Given the description of an element on the screen output the (x, y) to click on. 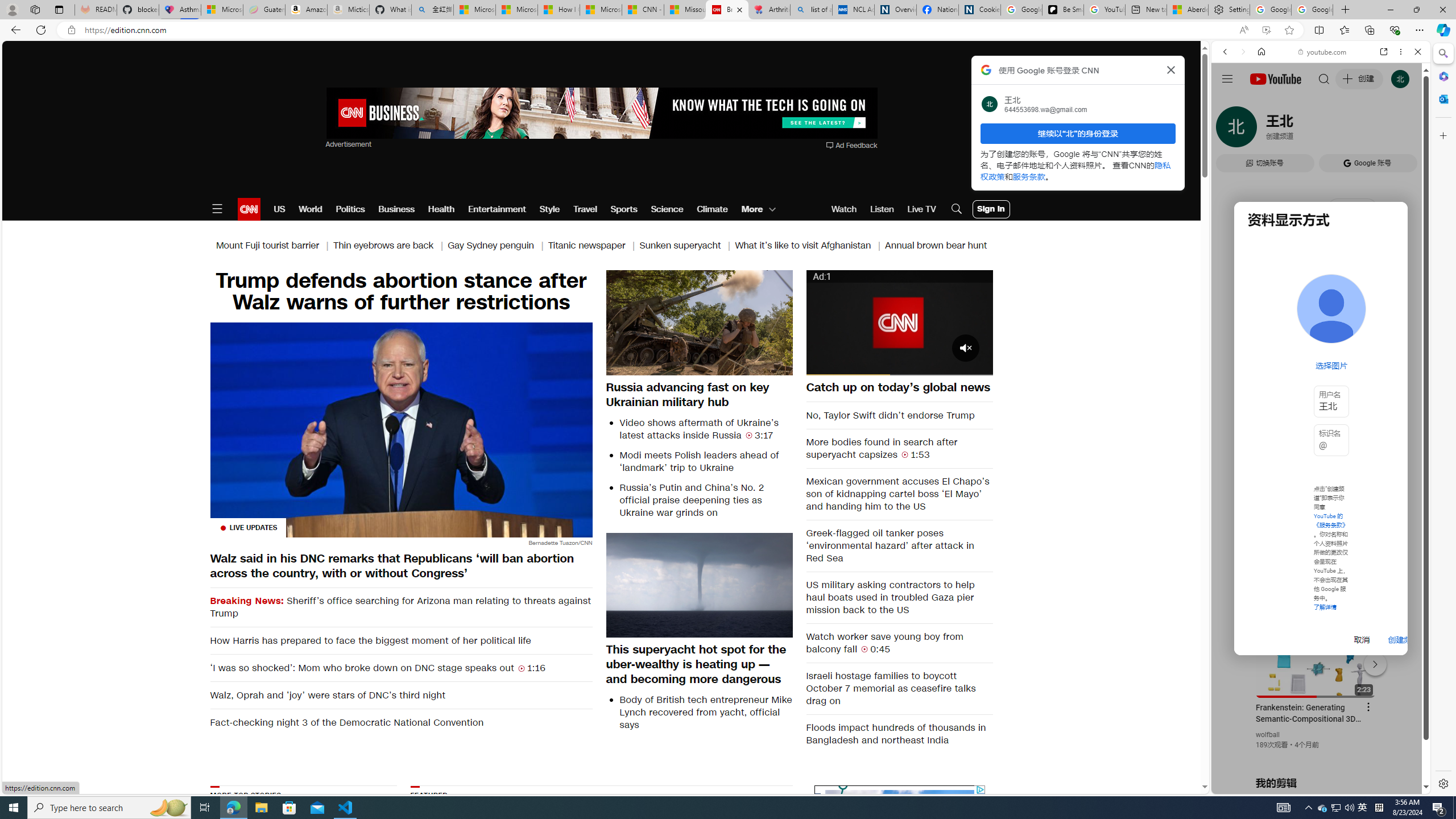
US[ju] (1249, 785)
Preferences (1403, 129)
Show More Music (1390, 310)
US (279, 209)
AutomationID: brandFlyLogo (899, 794)
